Given the description of an element on the screen output the (x, y) to click on. 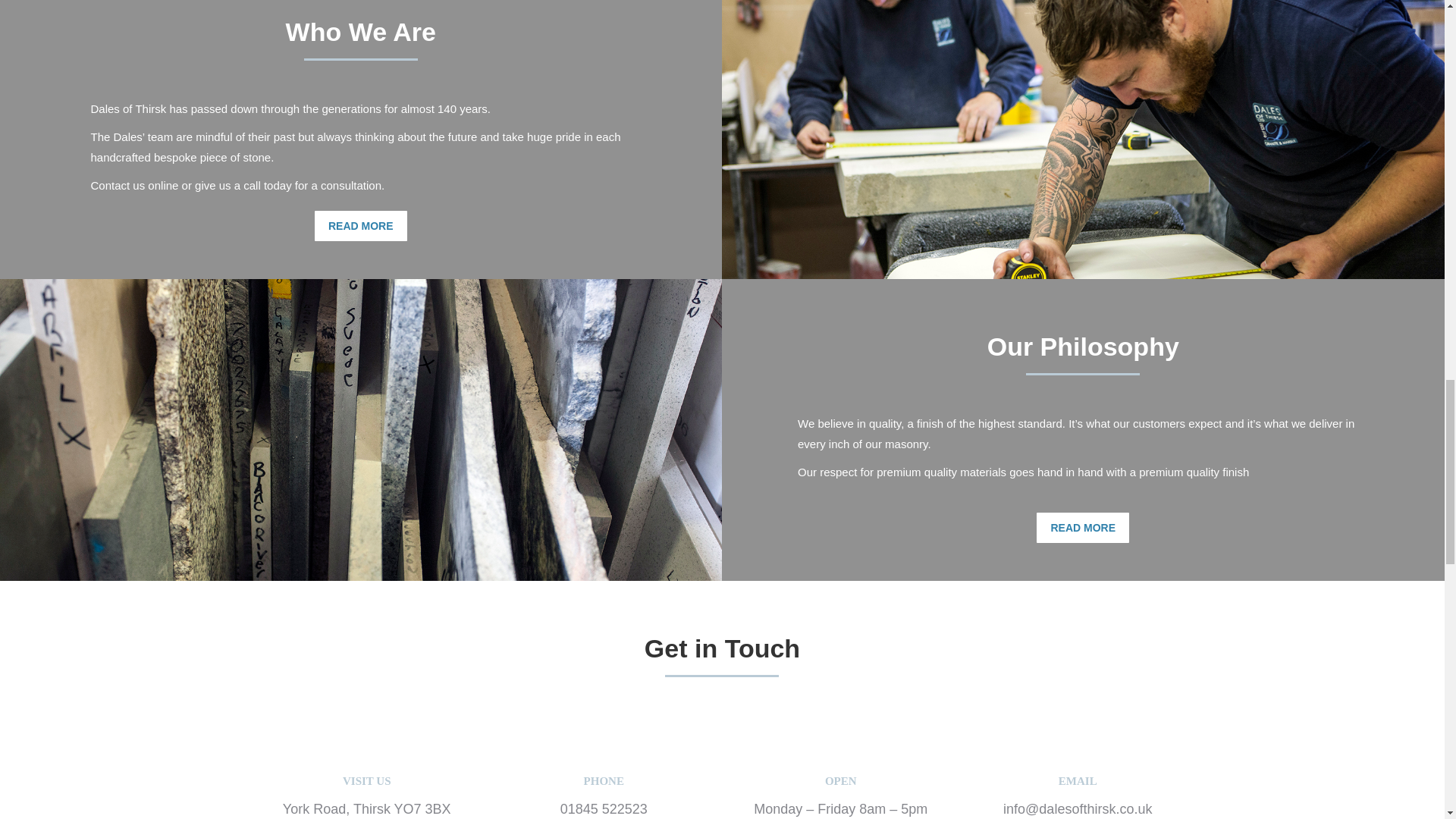
READ MORE (1082, 527)
READ MORE (360, 225)
